Given the description of an element on the screen output the (x, y) to click on. 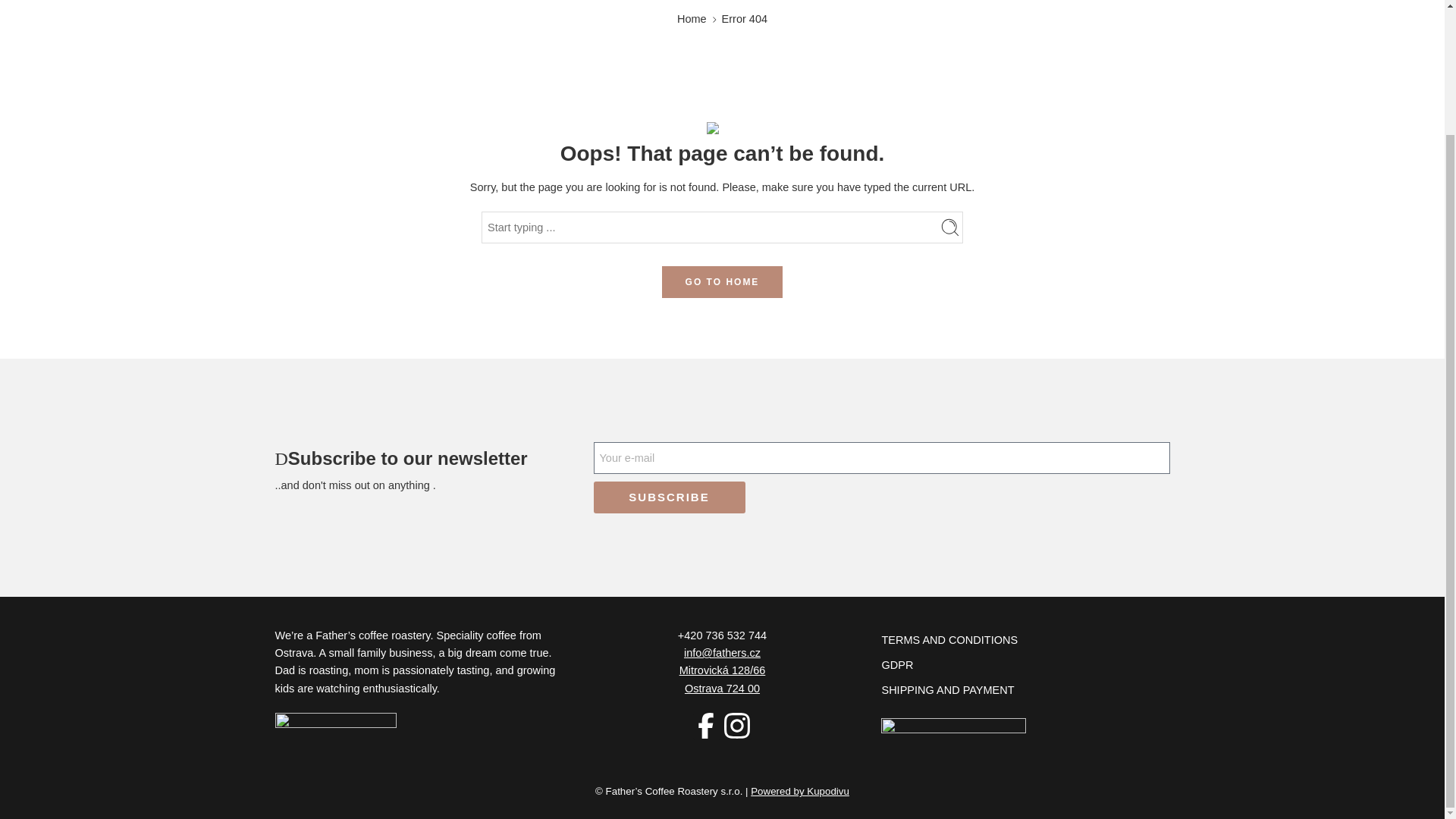
SHIPPING AND PAYMENT (1024, 690)
Powered by Kupodivu (799, 790)
SUBSCRIBE (668, 497)
GO TO HOME (722, 282)
Home (691, 18)
TERMS AND CONDITIONS (1024, 639)
Home (691, 18)
GDPR (1024, 664)
